Given the description of an element on the screen output the (x, y) to click on. 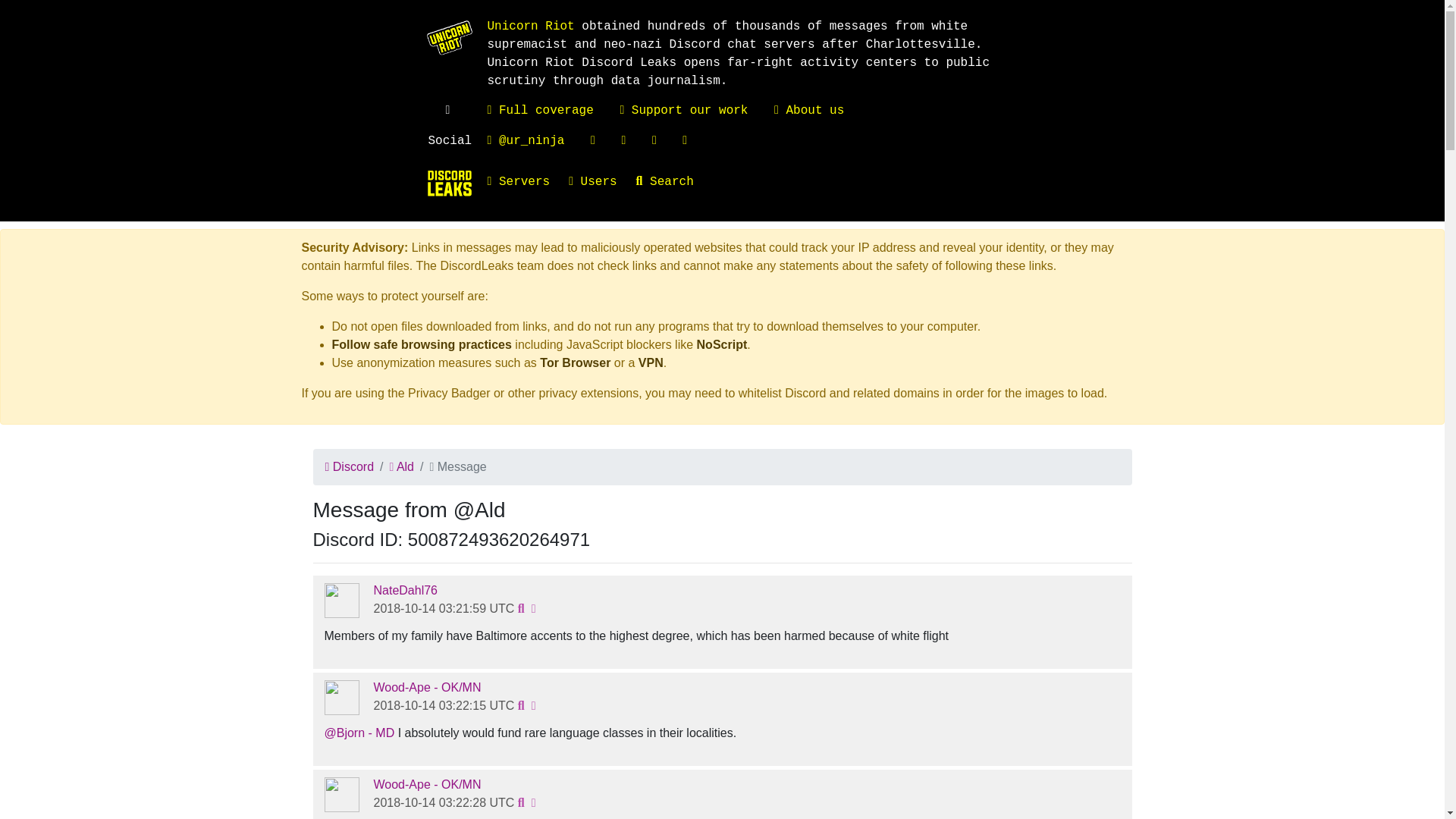
Discord ID: 489258741204779018 (341, 599)
Show all servers (527, 181)
Unicorn Riot homepage (529, 26)
Unicorn Riot (529, 26)
Users (601, 181)
Unicorn Riot on Twitter (525, 141)
Home (448, 183)
Search this database (674, 181)
Follow safe browsing practices (421, 344)
Ald (400, 466)
Show all users (601, 181)
Search (674, 181)
About Unicorn Riot (809, 110)
VPN (651, 362)
Unicorn Riot Far-Right Investigations Desk (539, 110)
